Given the description of an element on the screen output the (x, y) to click on. 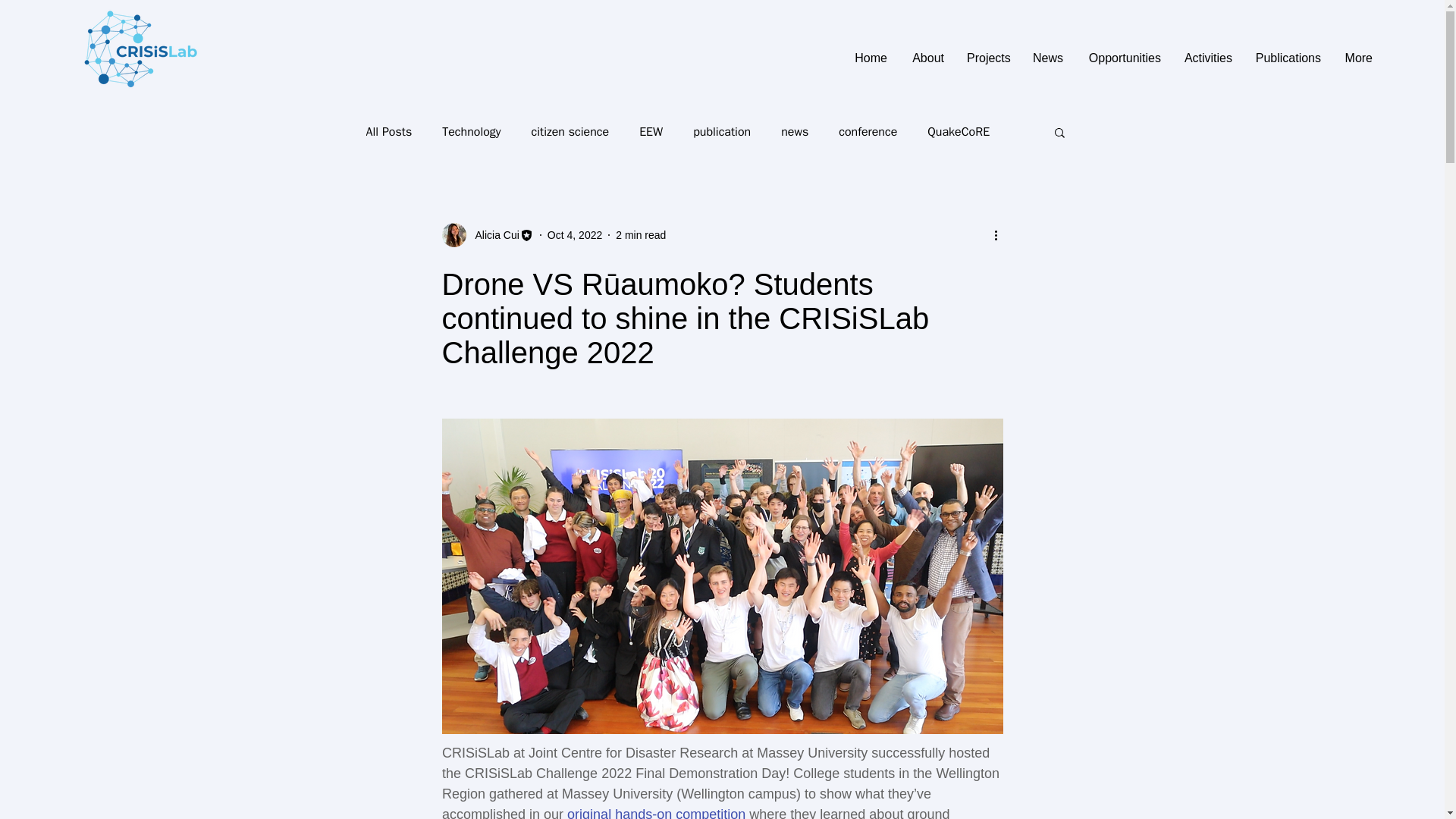
news (794, 132)
Technology (471, 132)
original hands-on competition (656, 812)
Alicia Cui (491, 235)
Publications (1287, 57)
Alicia Cui (486, 234)
News (1048, 57)
QuakeCoRE (958, 132)
citizen science (570, 132)
2 min read (640, 234)
Oct 4, 2022 (574, 234)
Home (869, 57)
Opportunities (1123, 57)
EEW (650, 132)
All Posts (388, 132)
